Given the description of an element on the screen output the (x, y) to click on. 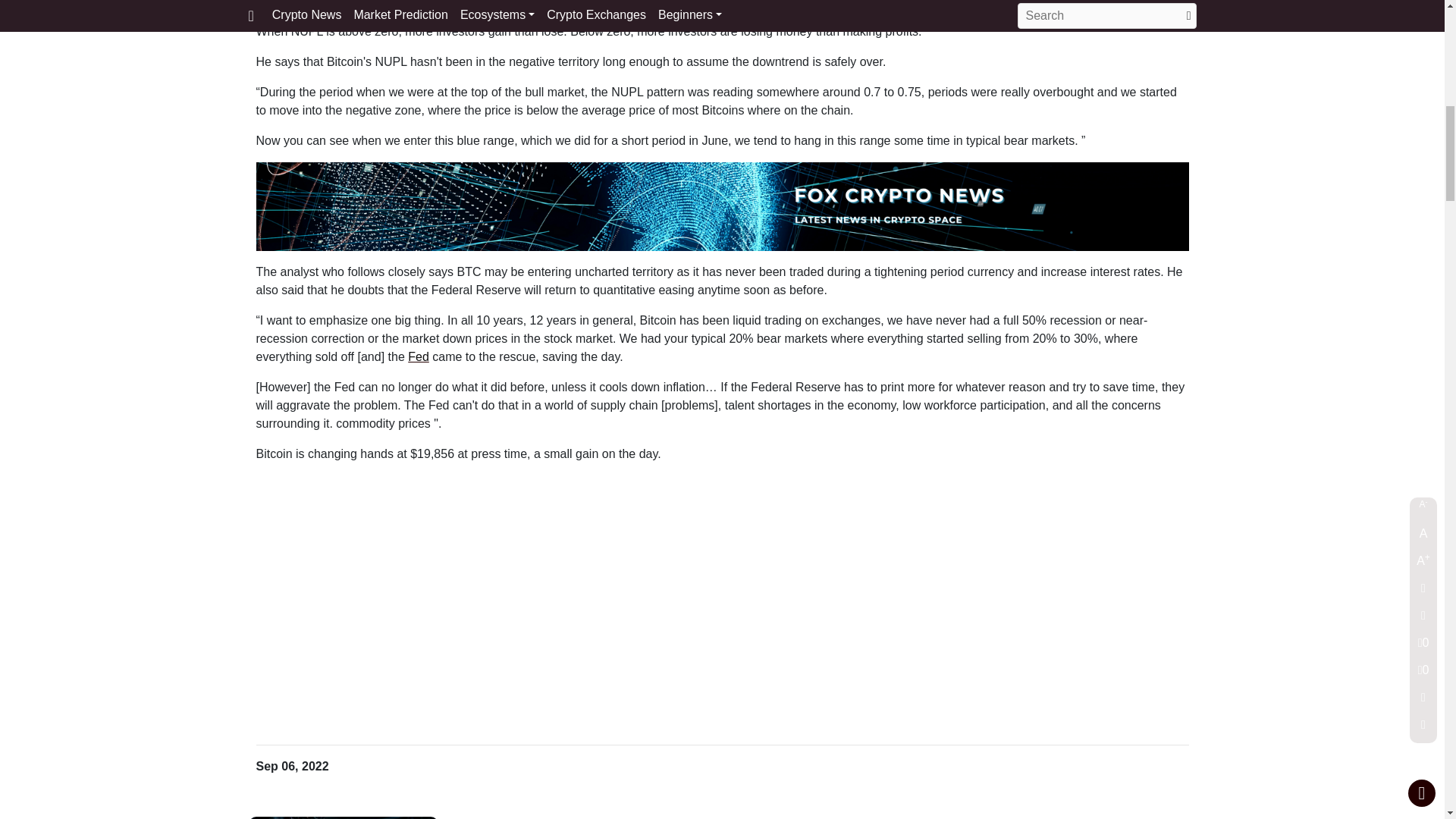
Fed (418, 356)
YouTube video player (721, 594)
